Given the description of an element on the screen output the (x, y) to click on. 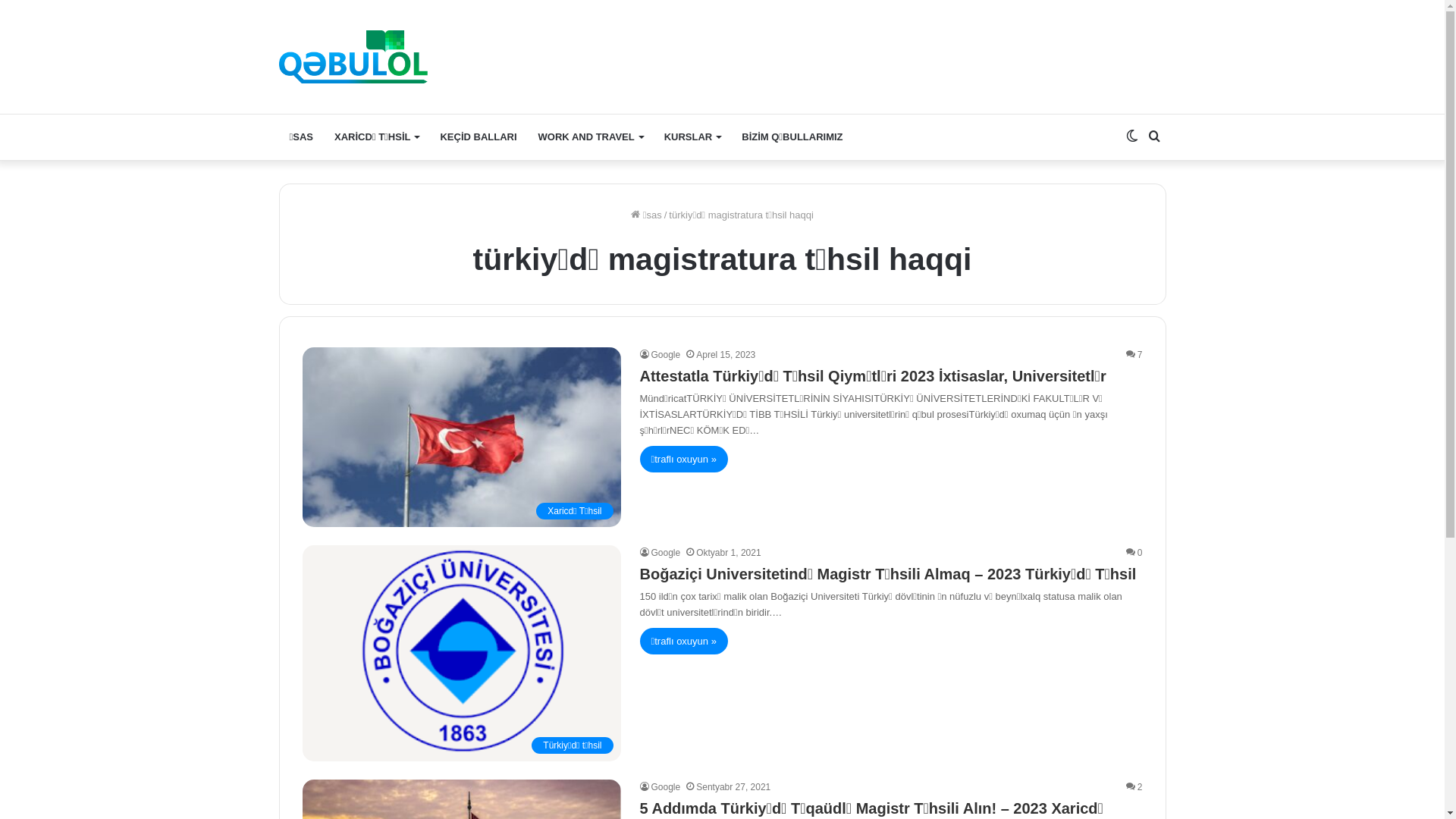
Switch skin Element type: text (1131, 137)
KURSLAR Element type: text (692, 137)
Google Element type: text (660, 786)
WORK AND TRAVEL Element type: text (590, 137)
Google Element type: text (660, 552)
Axtar Element type: text (1154, 137)
Google Element type: text (660, 354)
